Given the description of an element on the screen output the (x, y) to click on. 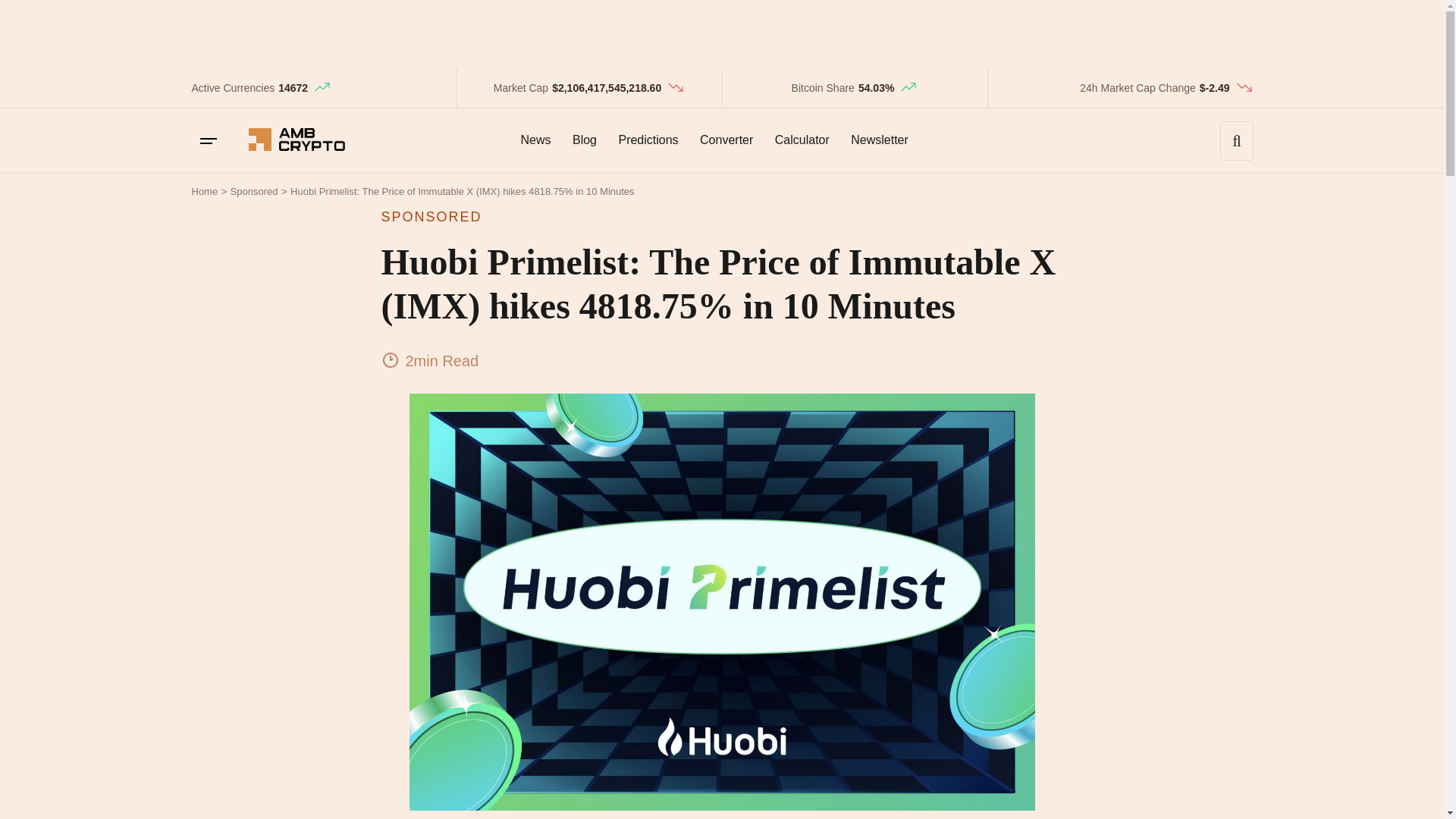
Home (203, 191)
News (535, 139)
Blog (584, 139)
Home (203, 191)
Newsletter (879, 139)
SPONSORED (721, 216)
Sponsored (254, 191)
Calculator (801, 139)
Sponsored (254, 191)
Predictions (647, 139)
